Given the description of an element on the screen output the (x, y) to click on. 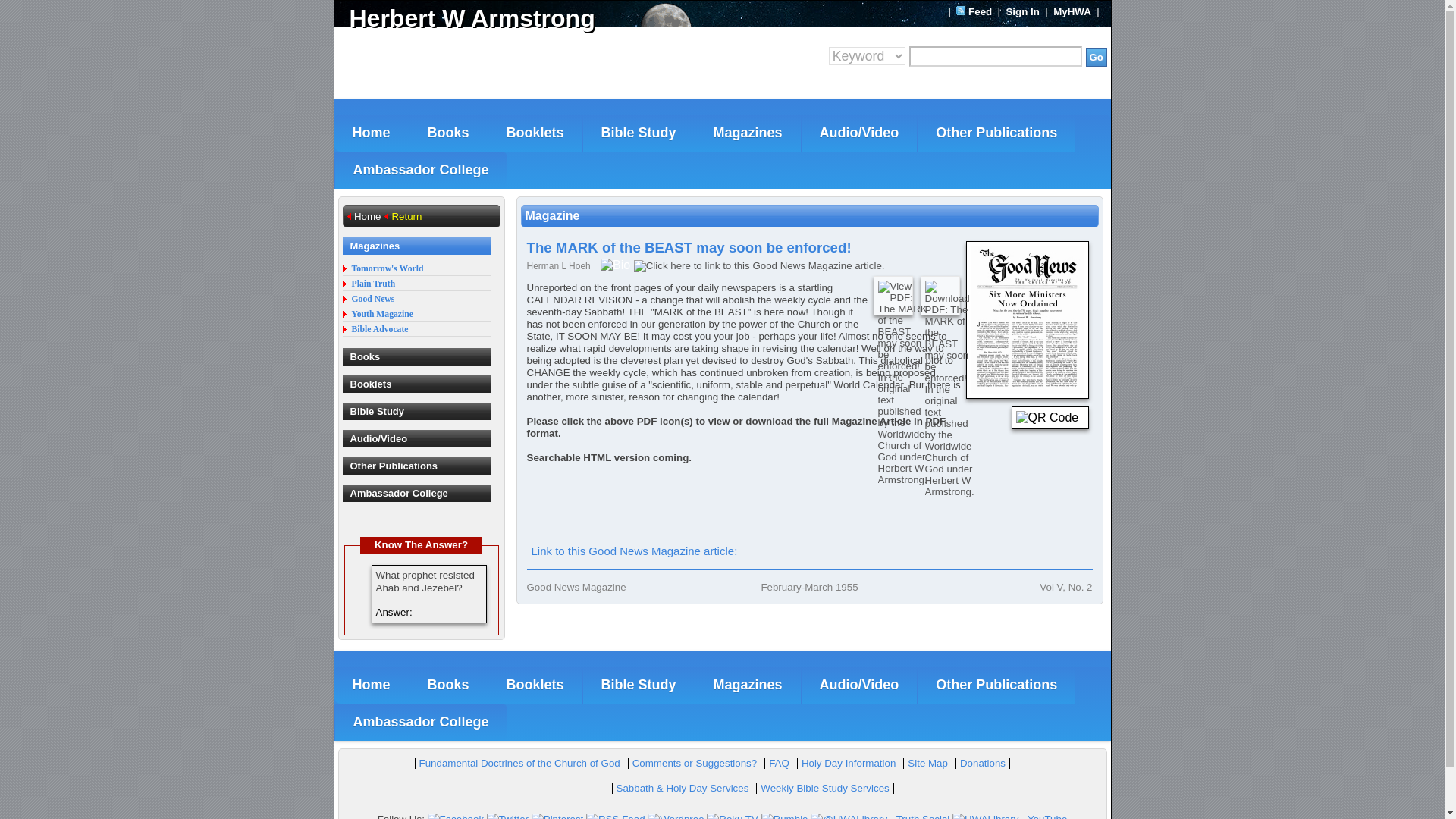
Go (1096, 56)
Books (448, 132)
HWALibrary - RSS Feed (615, 816)
Bible Study (638, 132)
HWALibrary - Twitter (507, 816)
Booklets (534, 132)
Herbert W Armstrong Library (528, 18)
Go (1096, 56)
Magazines (747, 132)
MyHWA (1071, 11)
HWALibrary - Rumble (784, 816)
Link to this Good News Magazine article: (633, 550)
Click down arrow to see all 3 search options. (866, 55)
